Given the description of an element on the screen output the (x, y) to click on. 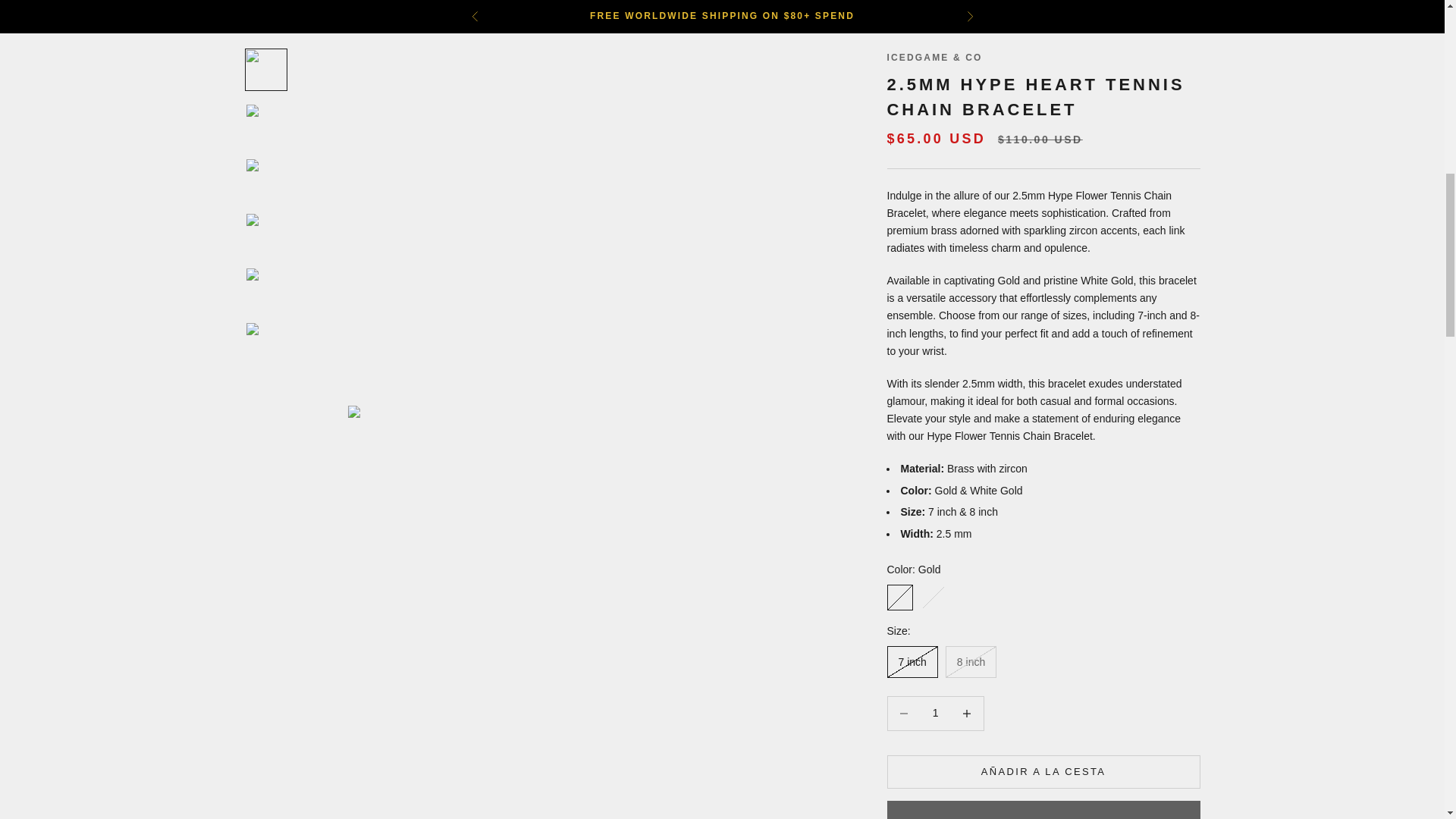
1 (935, 67)
